Given the description of an element on the screen output the (x, y) to click on. 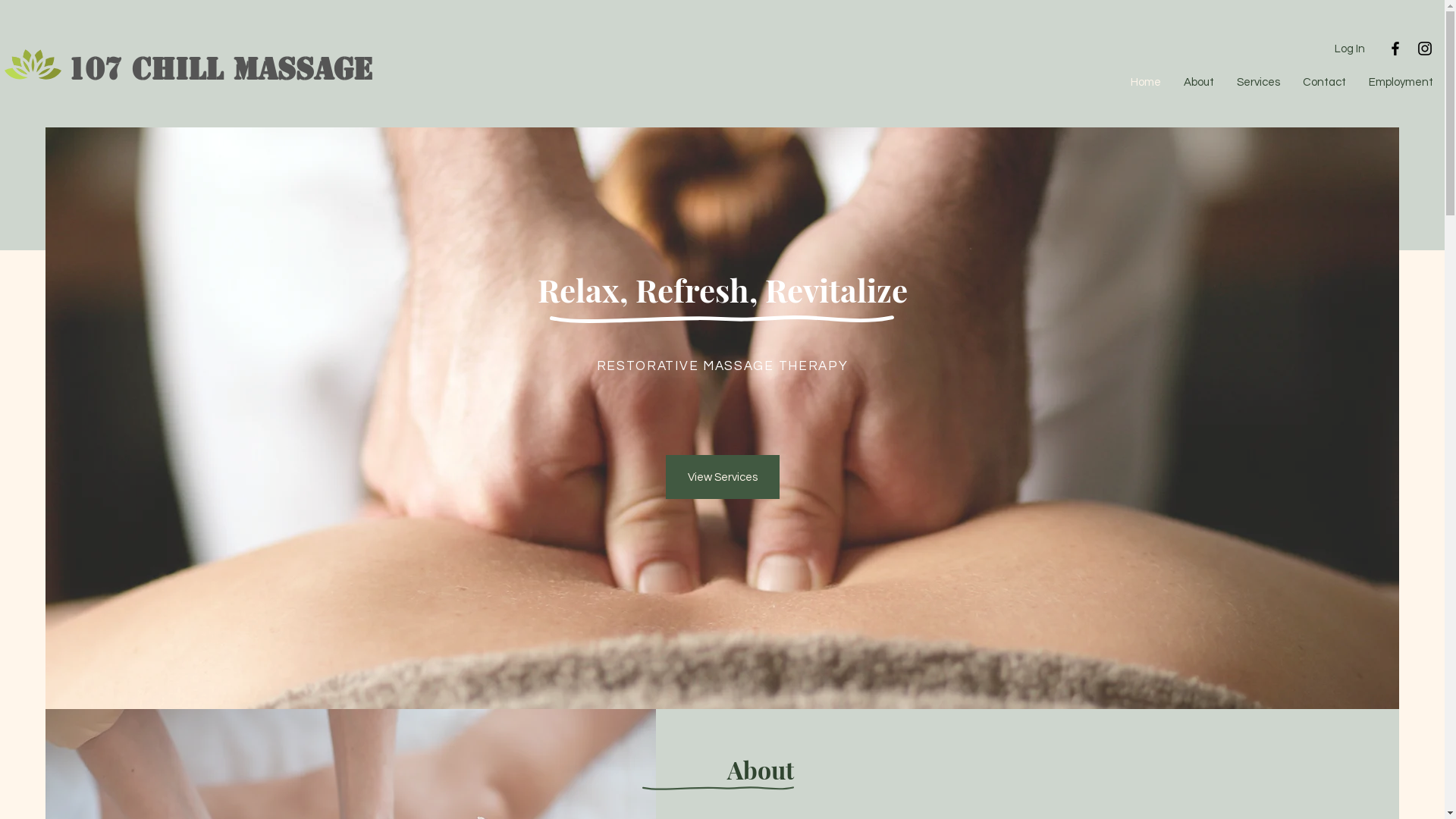
Home Element type: text (1145, 82)
About Element type: text (1198, 82)
Log In Element type: text (1349, 48)
Employment Element type: text (1400, 82)
View Services Element type: text (722, 476)
Contact Element type: text (1324, 82)
107 CHILL MASSAGE Element type: text (219, 68)
Services Element type: text (1258, 82)
